Given the description of an element on the screen output the (x, y) to click on. 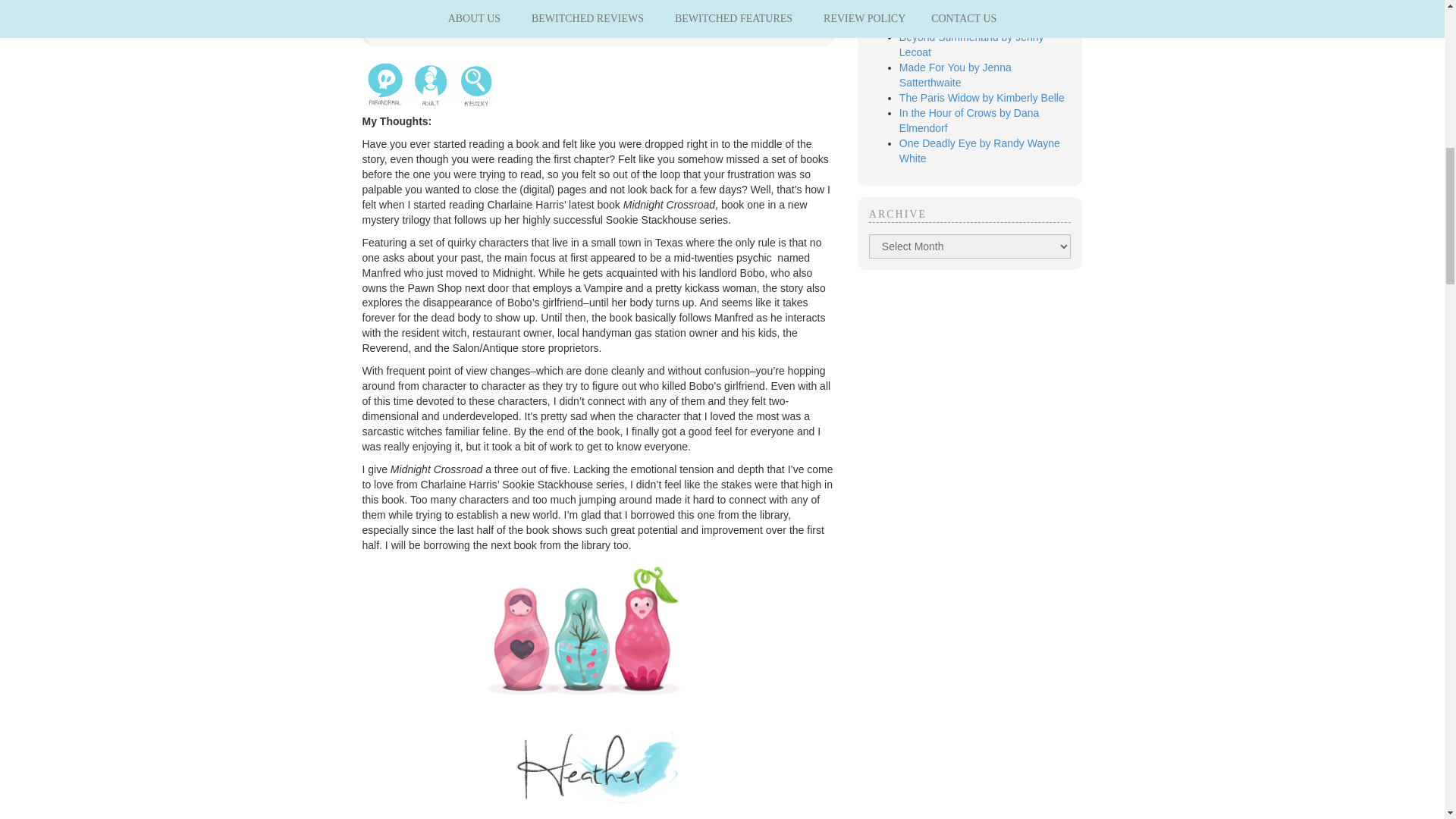
adult (429, 84)
mystery (475, 84)
paranormal (384, 84)
